Given the description of an element on the screen output the (x, y) to click on. 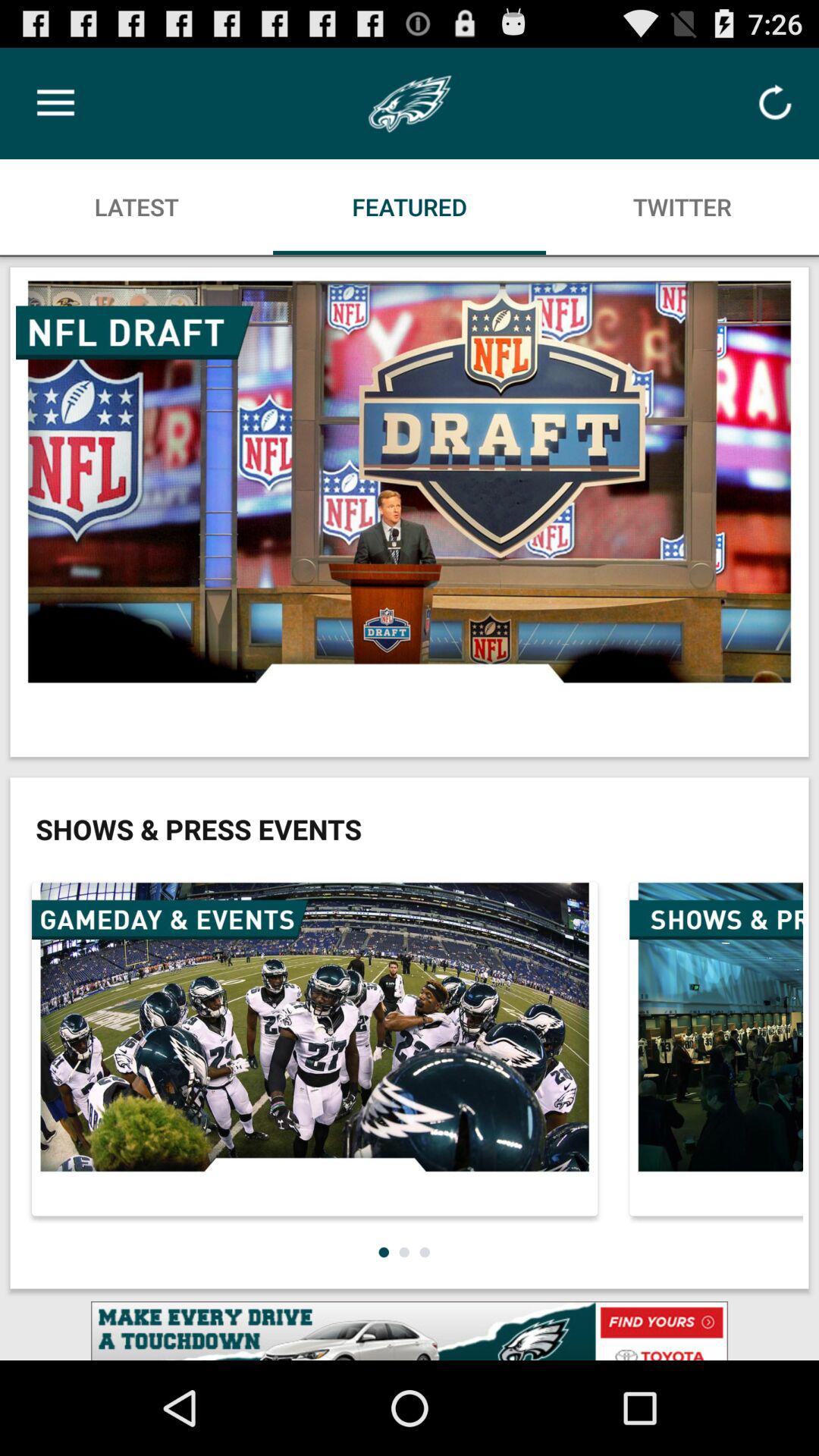
click on the first image (409, 512)
click on the first image (409, 512)
click on the second image in shows  press events (713, 1049)
click on the first image under shows  press events (314, 1048)
